Given the description of an element on the screen output the (x, y) to click on. 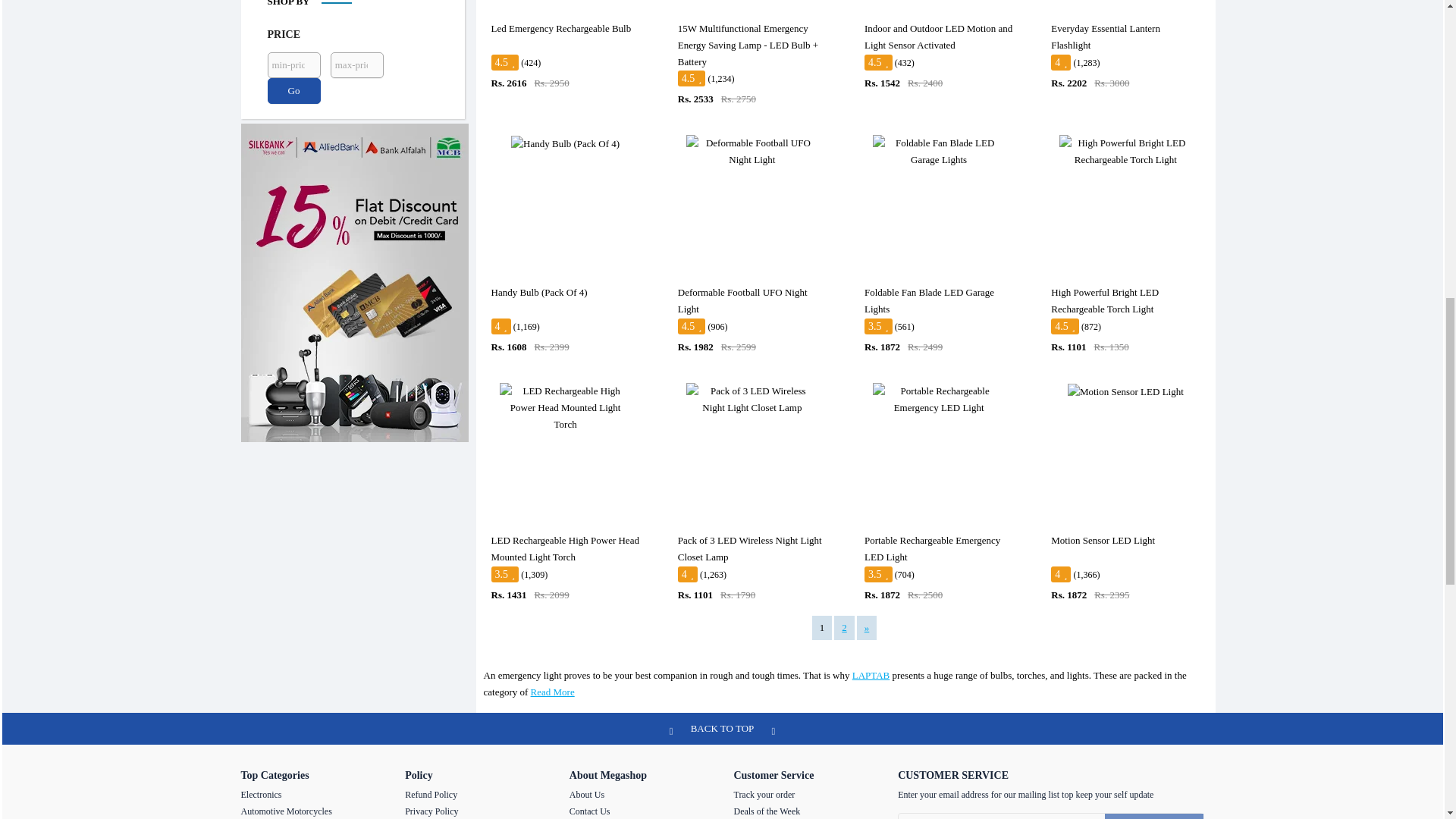
Portable Rechargeable Emergency LED Light (938, 399)
Deformable Football UFO Night Light (751, 151)
Go (293, 90)
Foldable Fan Blade LED Garage Lights (938, 151)
Pack of 3 LED Wireless Night Light Closet Lamp (751, 399)
High Powerful Bright LED Rechargeable Torch Light (1125, 151)
LED Rechargeable High Power Head Mounted Light Torch (565, 408)
Motion Sensor LED Light (1125, 392)
